Given the description of an element on the screen output the (x, y) to click on. 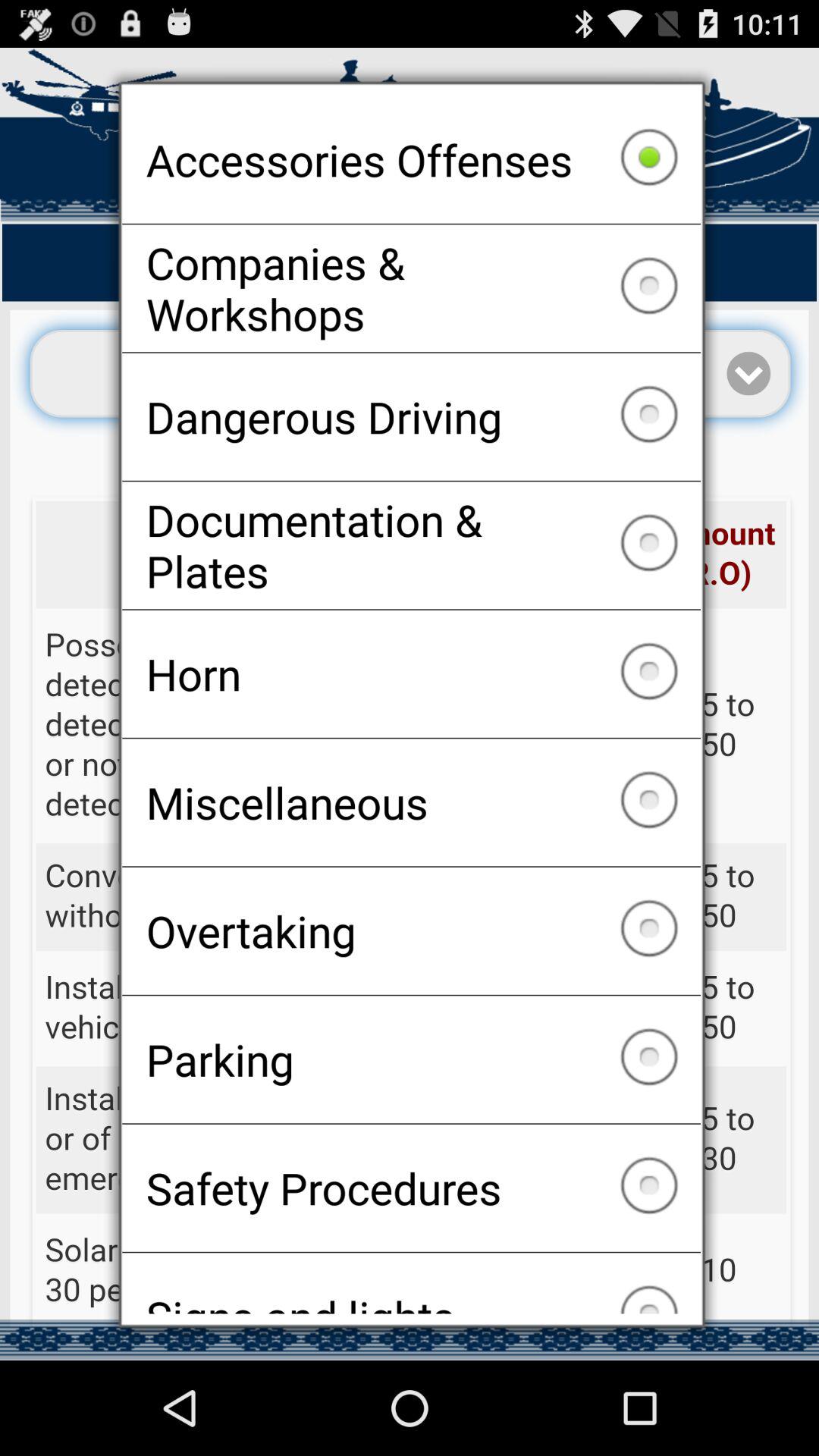
flip to dangerous driving checkbox (411, 416)
